Given the description of an element on the screen output the (x, y) to click on. 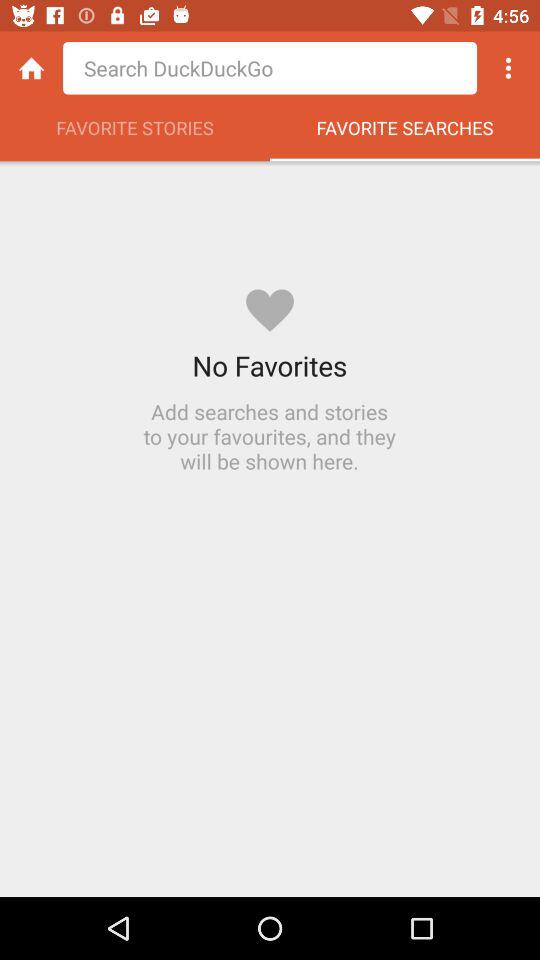
launch the icon above favorite stories item (31, 68)
